Given the description of an element on the screen output the (x, y) to click on. 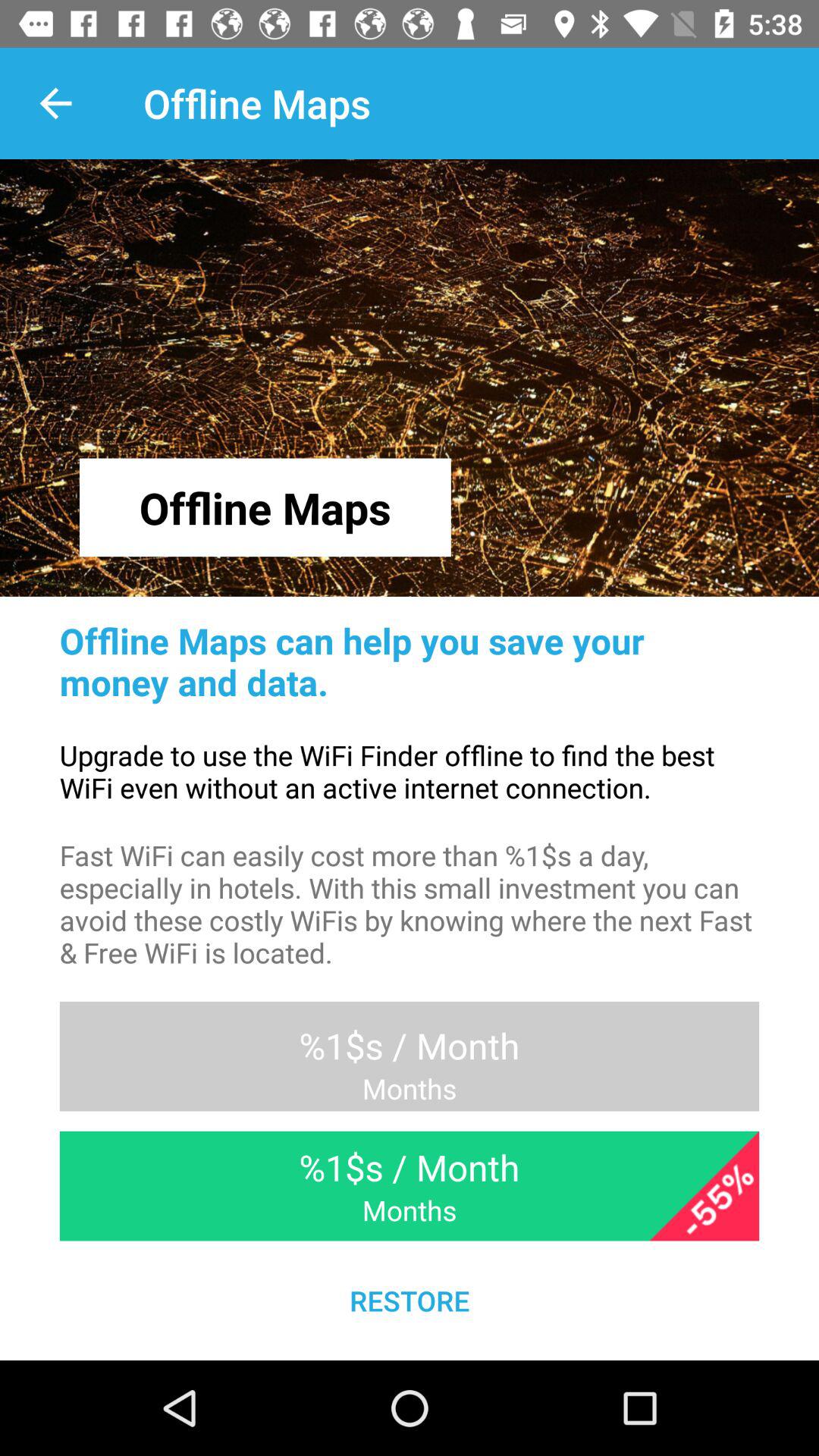
tap the restore item (409, 1300)
